Given the description of an element on the screen output the (x, y) to click on. 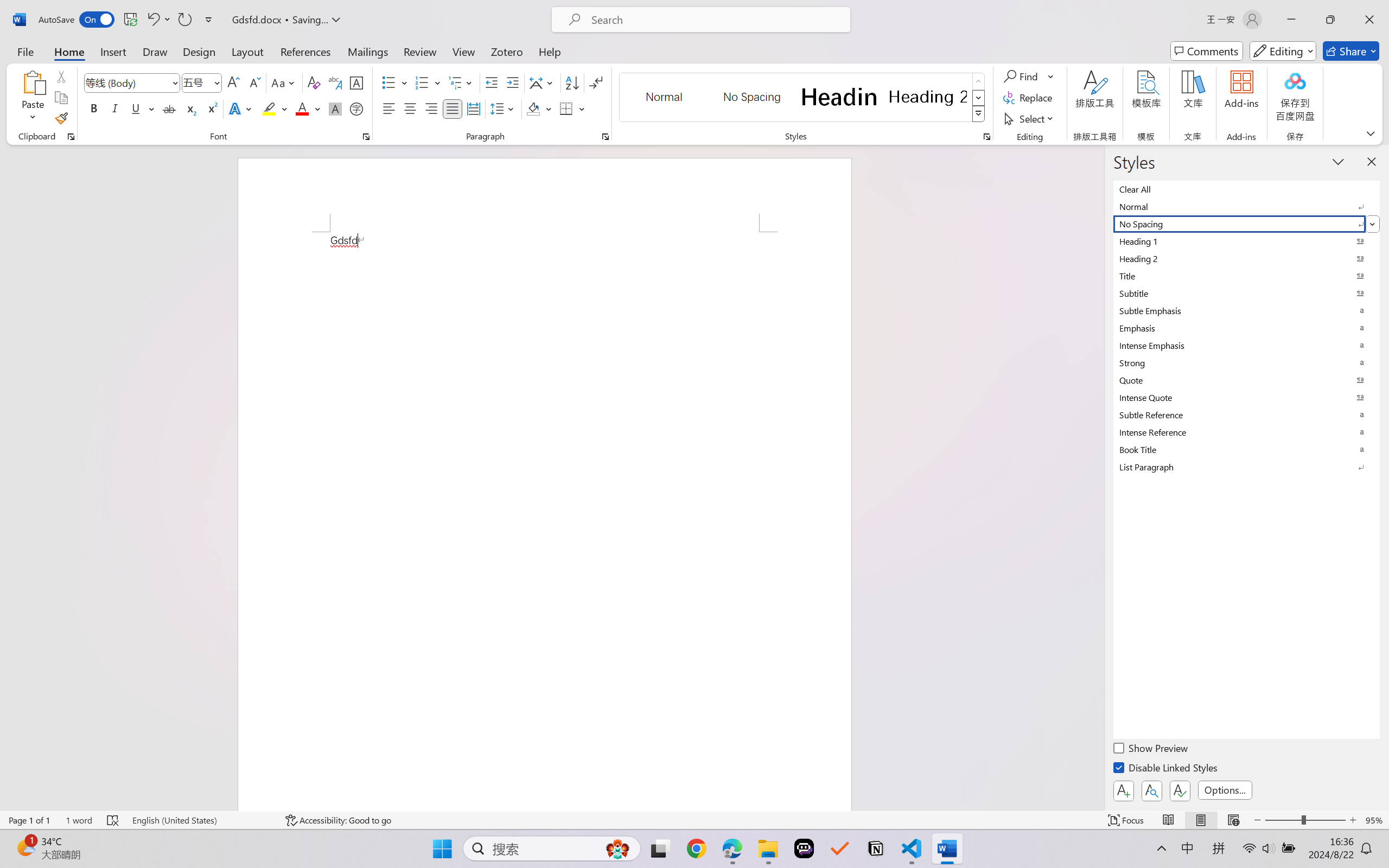
Intense Emphasis (1246, 345)
Microsoft search (715, 19)
Subscript (190, 108)
Asian Layout (542, 82)
Strong (1246, 362)
Clear All (1246, 188)
Italic (115, 108)
